Given the description of an element on the screen output the (x, y) to click on. 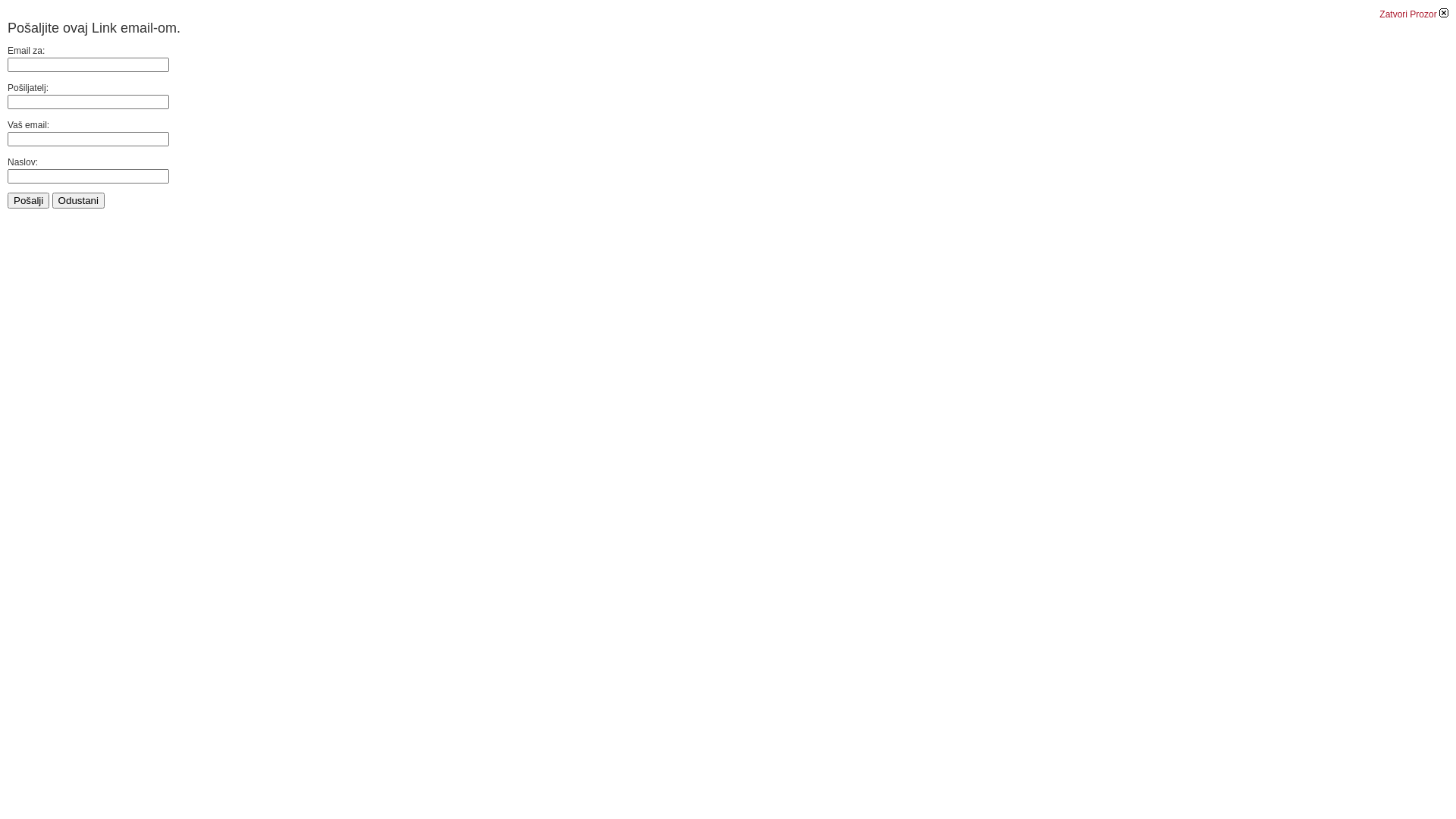
Zatvori Prozor Element type: text (1413, 14)
Odustani Element type: text (78, 200)
